Given the description of an element on the screen output the (x, y) to click on. 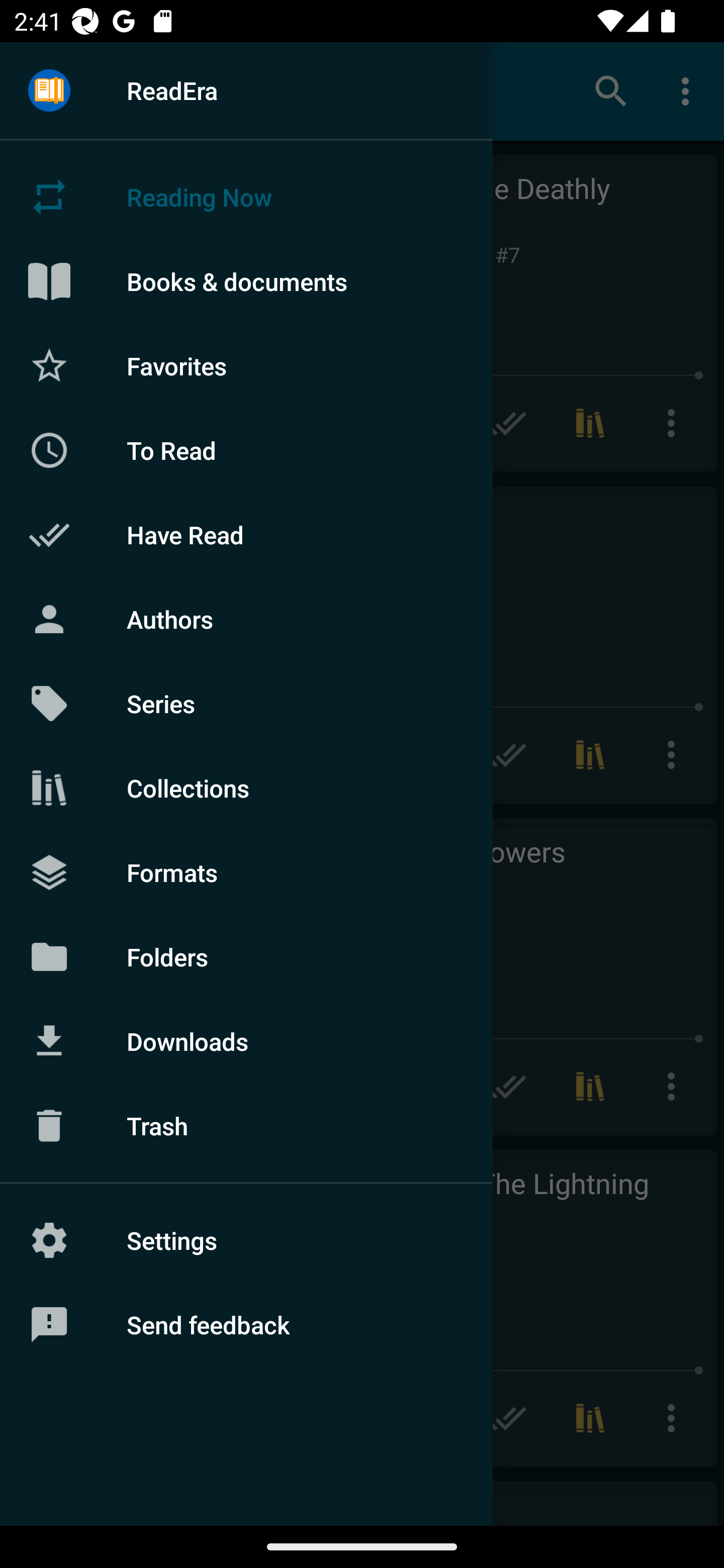
Menu (49, 91)
ReadEra (246, 89)
Search books & documents (611, 90)
More options (688, 90)
Reading Now (246, 197)
Books & documents (246, 281)
Favorites (246, 365)
To Read (246, 449)
Have Read (246, 534)
Authors (246, 619)
Series (246, 703)
Collections (246, 787)
Formats (246, 871)
Folders (246, 956)
Downloads (246, 1040)
Trash (246, 1125)
Settings (246, 1239)
Send feedback (246, 1324)
